Given the description of an element on the screen output the (x, y) to click on. 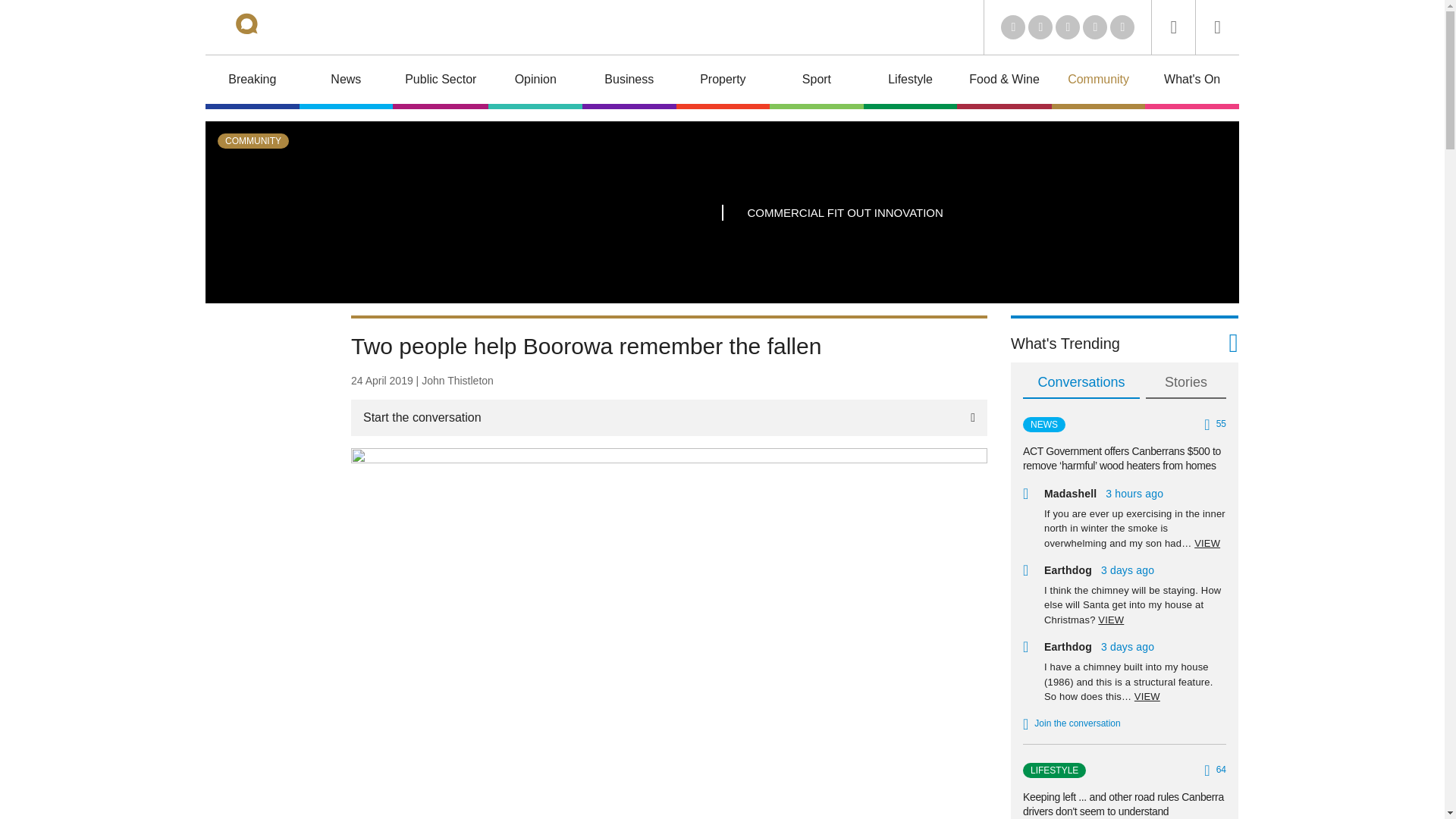
Riotact Home (267, 26)
Facebook (1094, 27)
Twitter (1039, 27)
LinkedIn (1013, 27)
Youtube (1067, 27)
News (346, 81)
Instagram (1121, 27)
Breaking (252, 81)
